Given the description of an element on the screen output the (x, y) to click on. 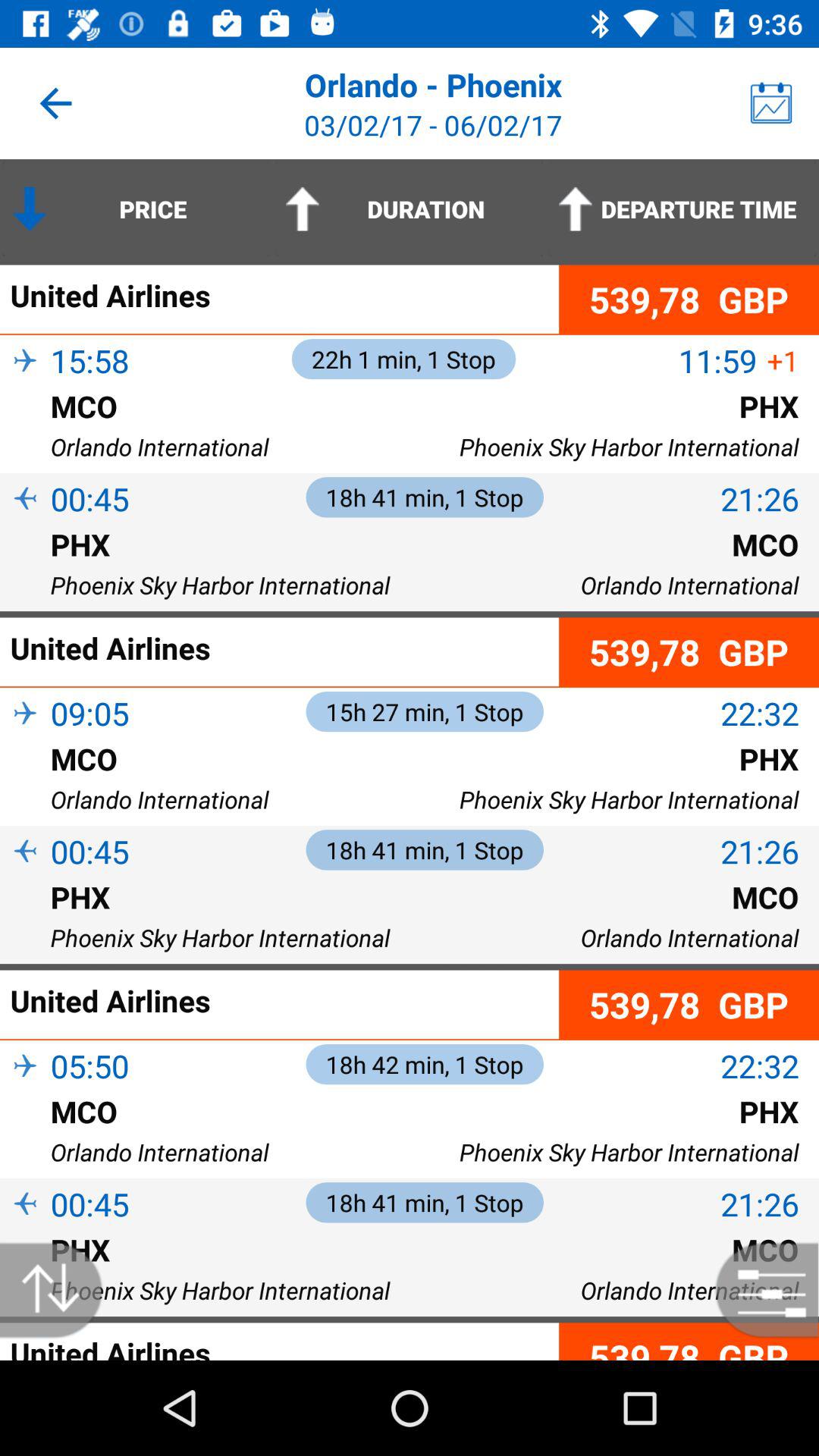
select the item to the right of the orlando - phoenix (771, 103)
